Given the description of an element on the screen output the (x, y) to click on. 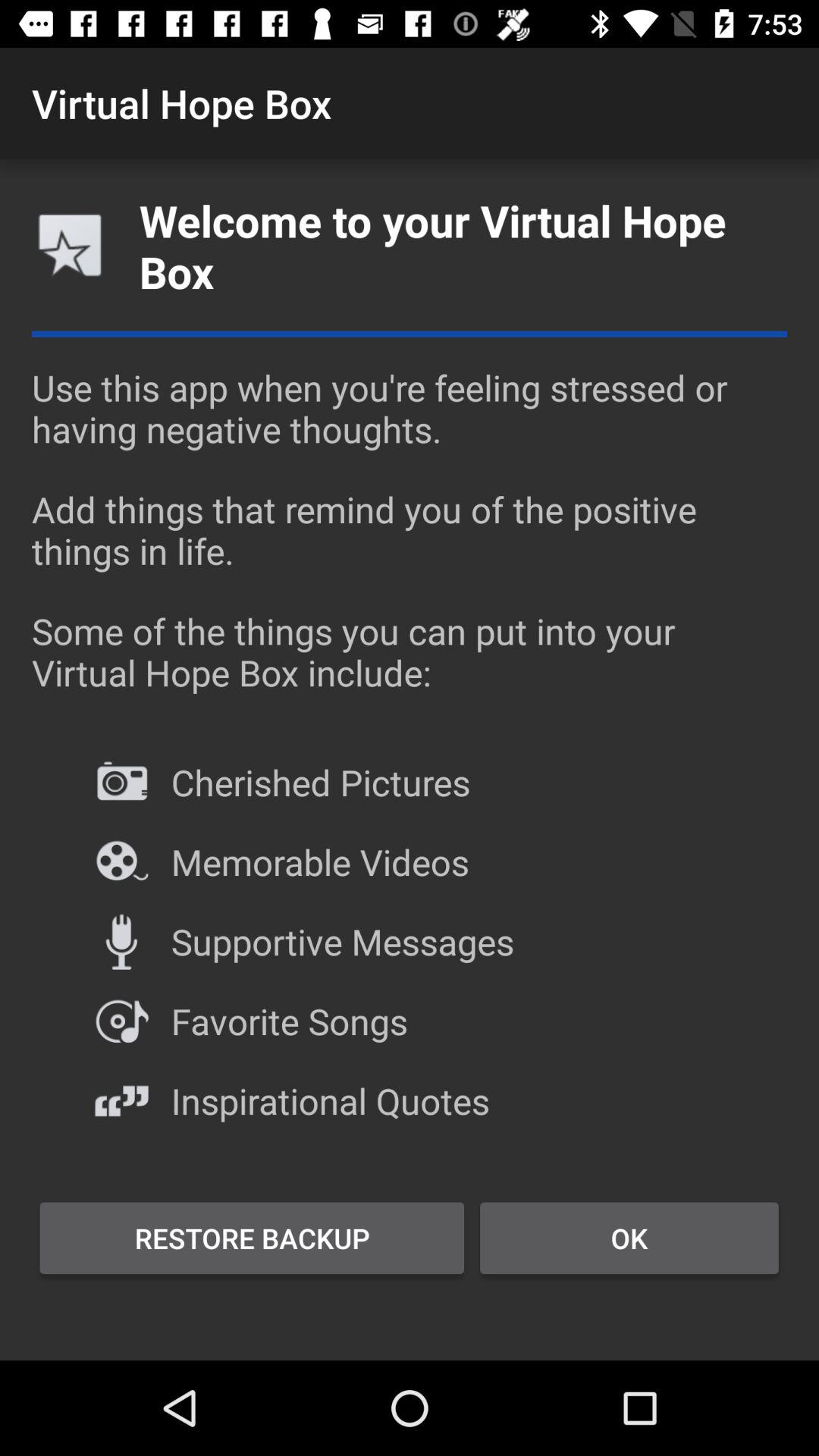
select the item to the right of restore backup (629, 1237)
